Given the description of an element on the screen output the (x, y) to click on. 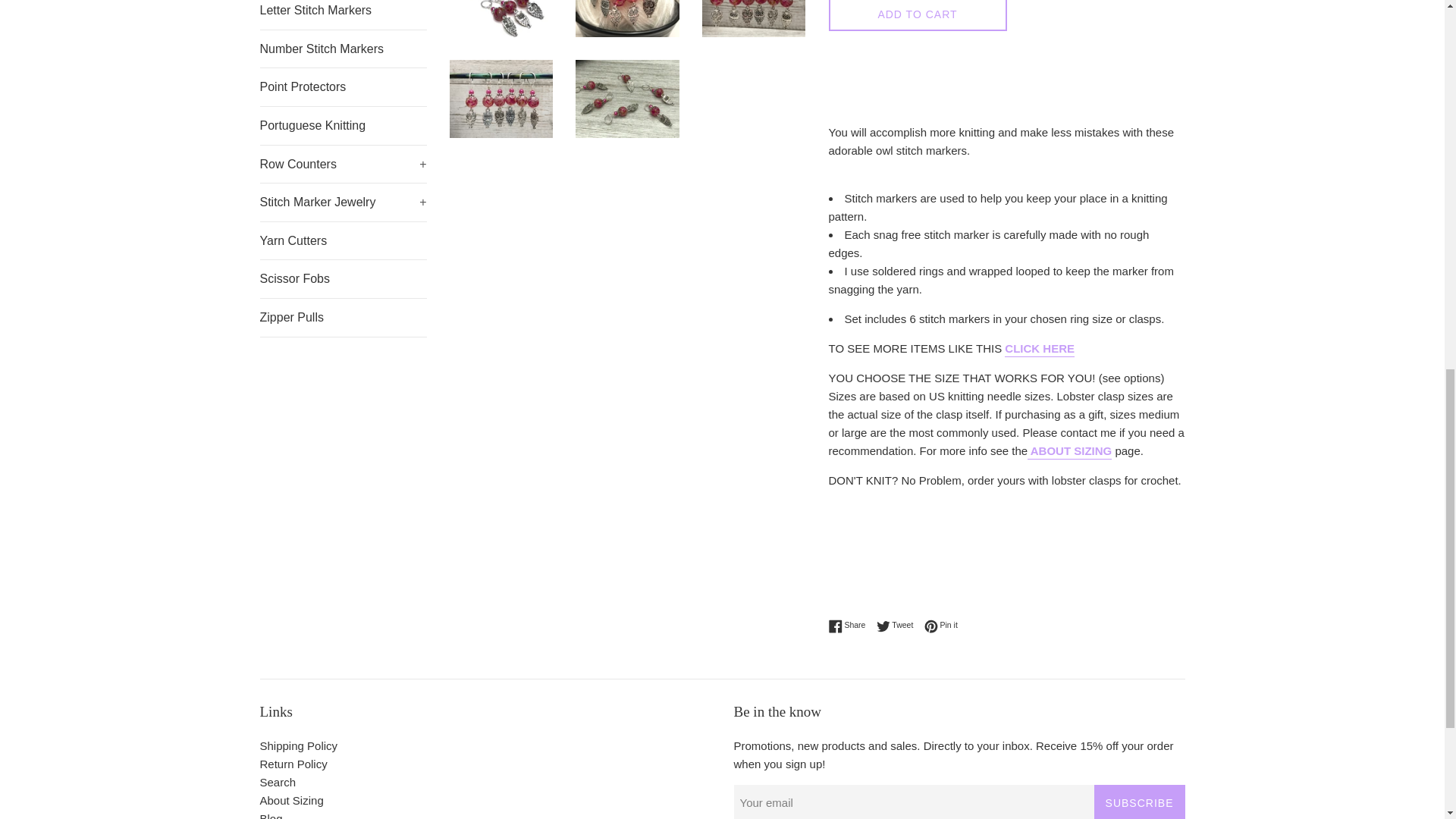
Tweet on Twitter (898, 625)
Point Protectors (342, 86)
Number Stitch Markers (342, 48)
Zipper Pulls (342, 317)
Yarn Cutters (342, 240)
Pin on Pinterest (941, 625)
6 piece stitch marker set (1039, 349)
Share on Facebook (850, 625)
About sizing (1069, 451)
Letter Stitch Markers (342, 14)
Portuguese Knitting (342, 125)
Scissor Fobs (342, 279)
